Given the description of an element on the screen output the (x, y) to click on. 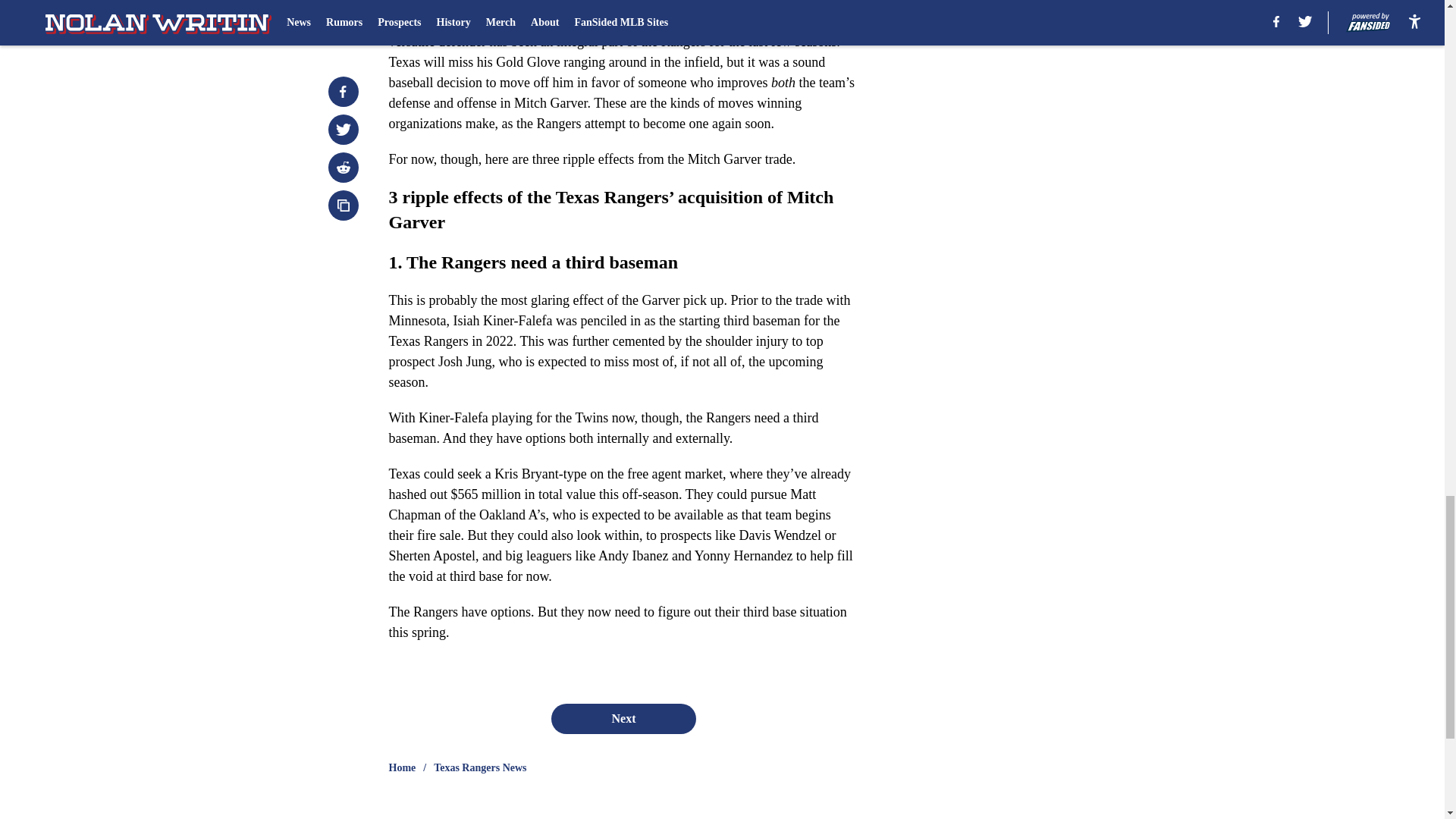
Home (401, 767)
Texas Rangers News (479, 767)
Next (622, 718)
